Given the description of an element on the screen output the (x, y) to click on. 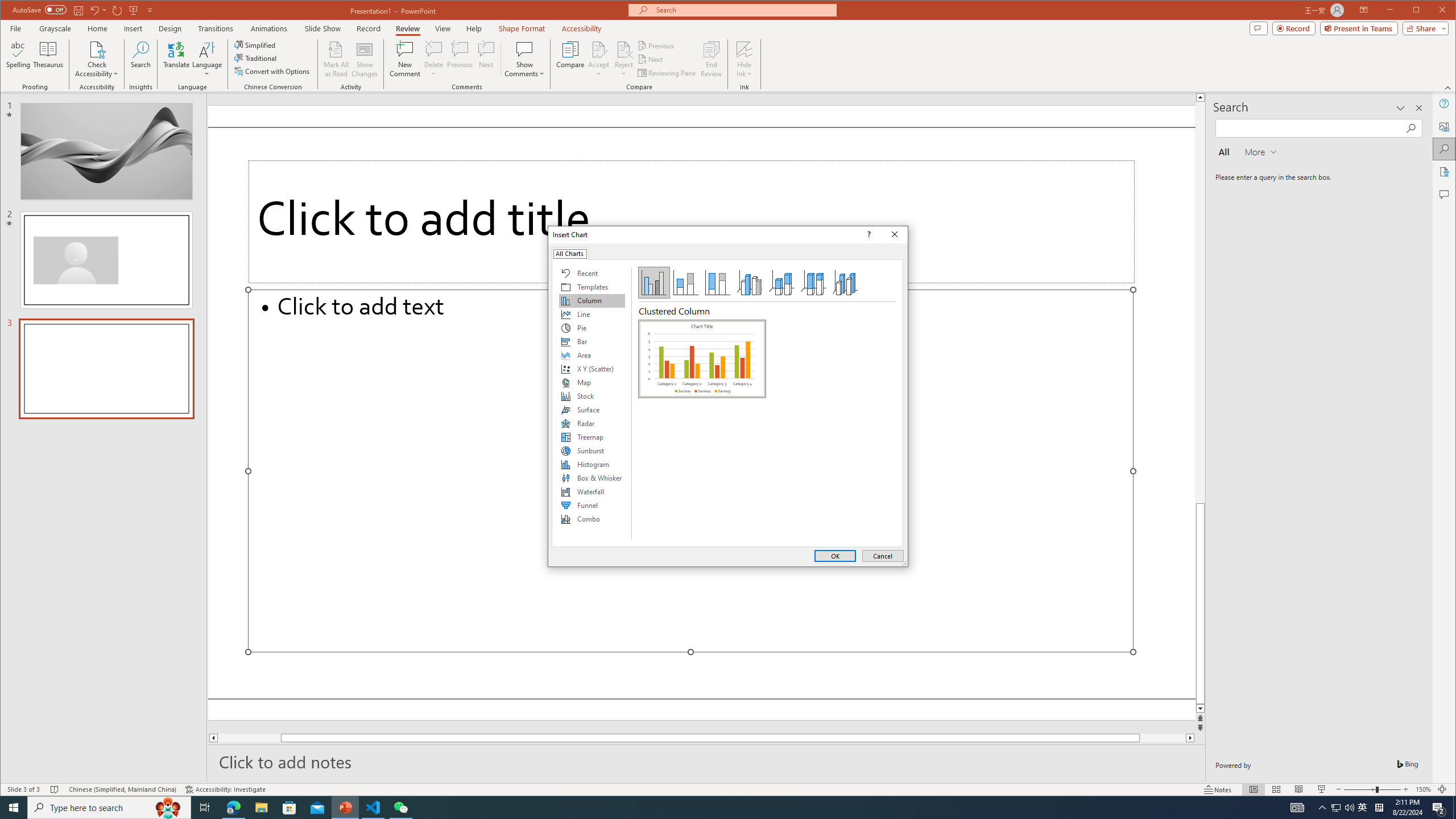
100% Stacked Column (717, 282)
